Given the description of an element on the screen output the (x, y) to click on. 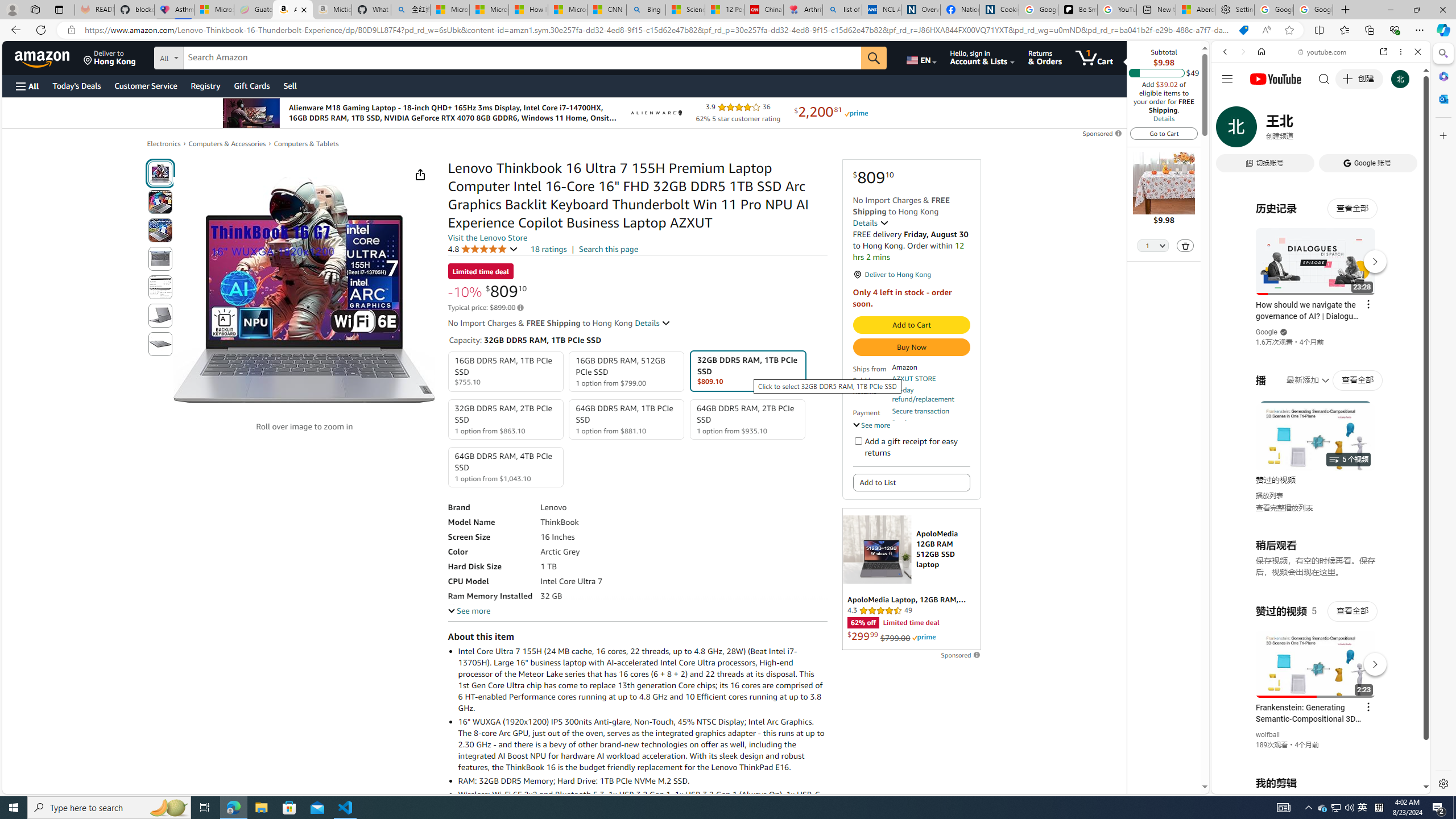
Google (1320, 281)
CNN - MSN (606, 9)
Delete (1185, 245)
Search videos from youtube.com (1299, 373)
Secure transaction (920, 411)
